Given the description of an element on the screen output the (x, y) to click on. 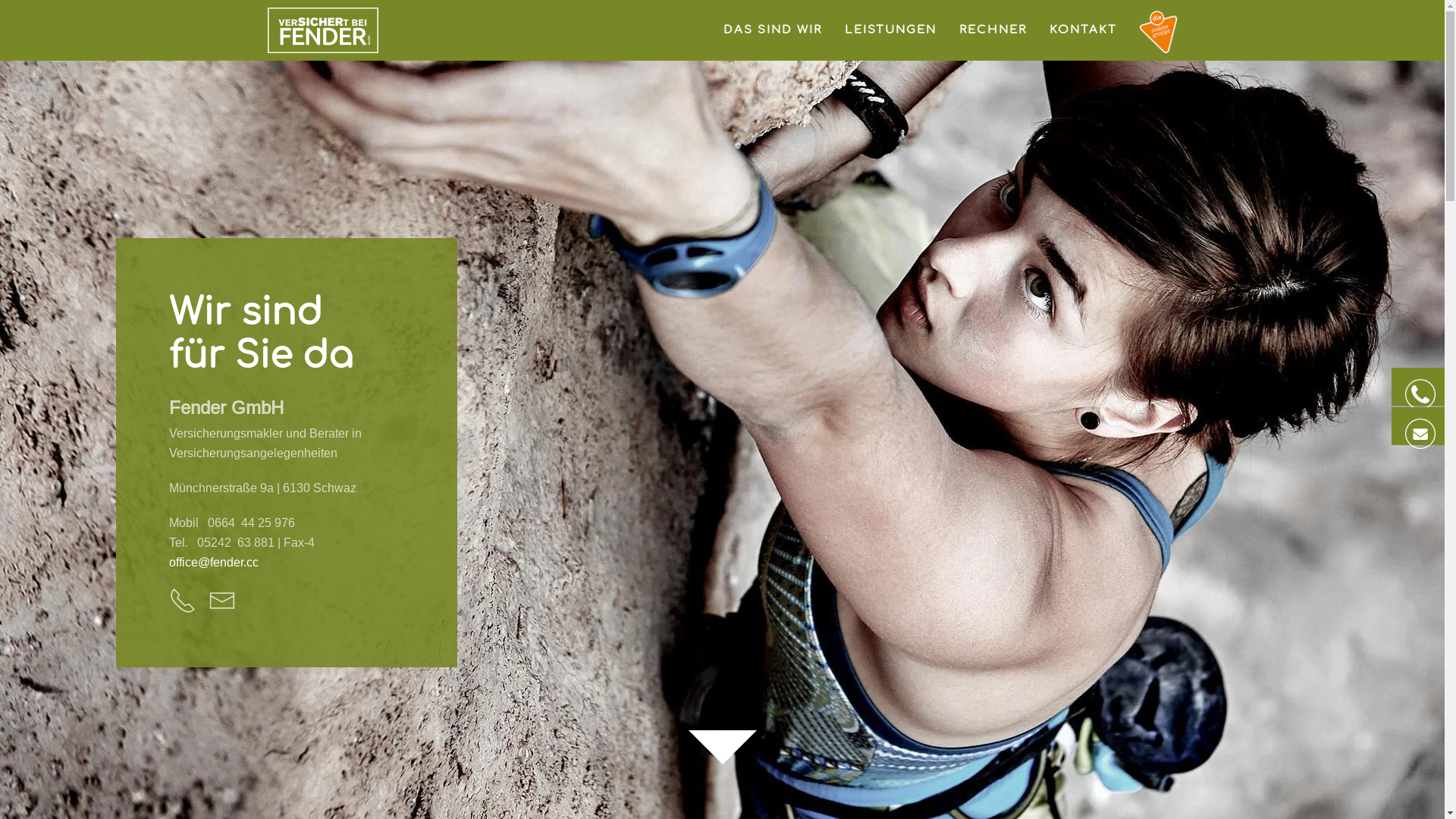
phone-fender image Element type: hover (1420, 394)
KONTAKT Element type: text (1083, 30)
mail-fender image Element type: hover (1420, 433)
DAS SIND WIR Element type: text (772, 30)
dieMaklergruppe-logo-einzeln image Element type: hover (1157, 31)
RECHNER Element type: text (992, 30)
office@fender.cc Element type: text (212, 561)
LEISTUNGEN Element type: text (890, 30)
logo_fender_web-5969d172 image Element type: hover (321, 30)
